Given the description of an element on the screen output the (x, y) to click on. 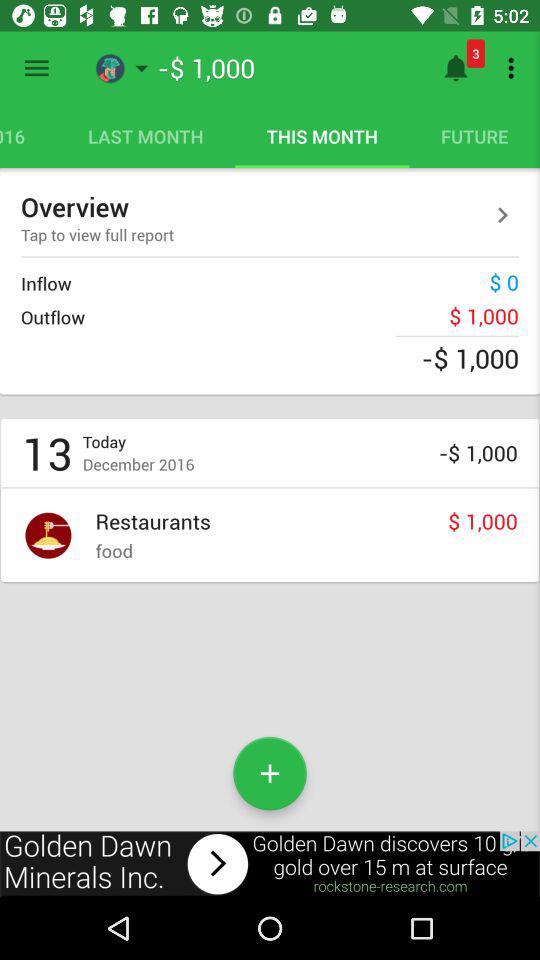
view advertisement (270, 864)
